Given the description of an element on the screen output the (x, y) to click on. 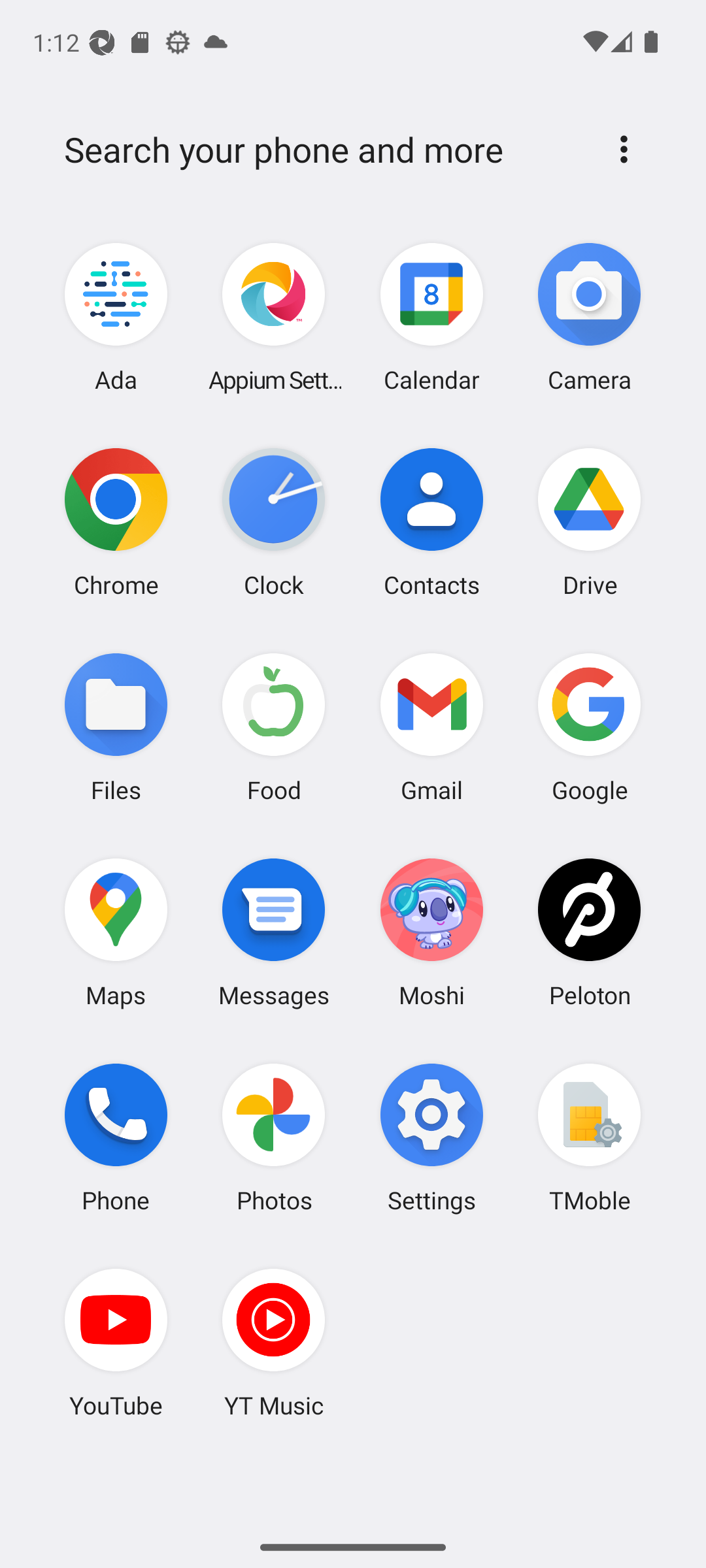
Search your phone and more (321, 149)
Preferences (623, 149)
Ada (115, 317)
Appium Settings (273, 317)
Calendar (431, 317)
Camera (589, 317)
Chrome (115, 522)
Clock (273, 522)
Contacts (431, 522)
Drive (589, 522)
Files (115, 726)
Food (273, 726)
Gmail (431, 726)
Google (589, 726)
Maps (115, 931)
Messages (273, 931)
Moshi (431, 931)
Peloton (589, 931)
Phone (115, 1137)
Photos (273, 1137)
Settings (431, 1137)
TMoble (589, 1137)
YouTube (115, 1342)
YT Music (273, 1342)
